Given the description of an element on the screen output the (x, y) to click on. 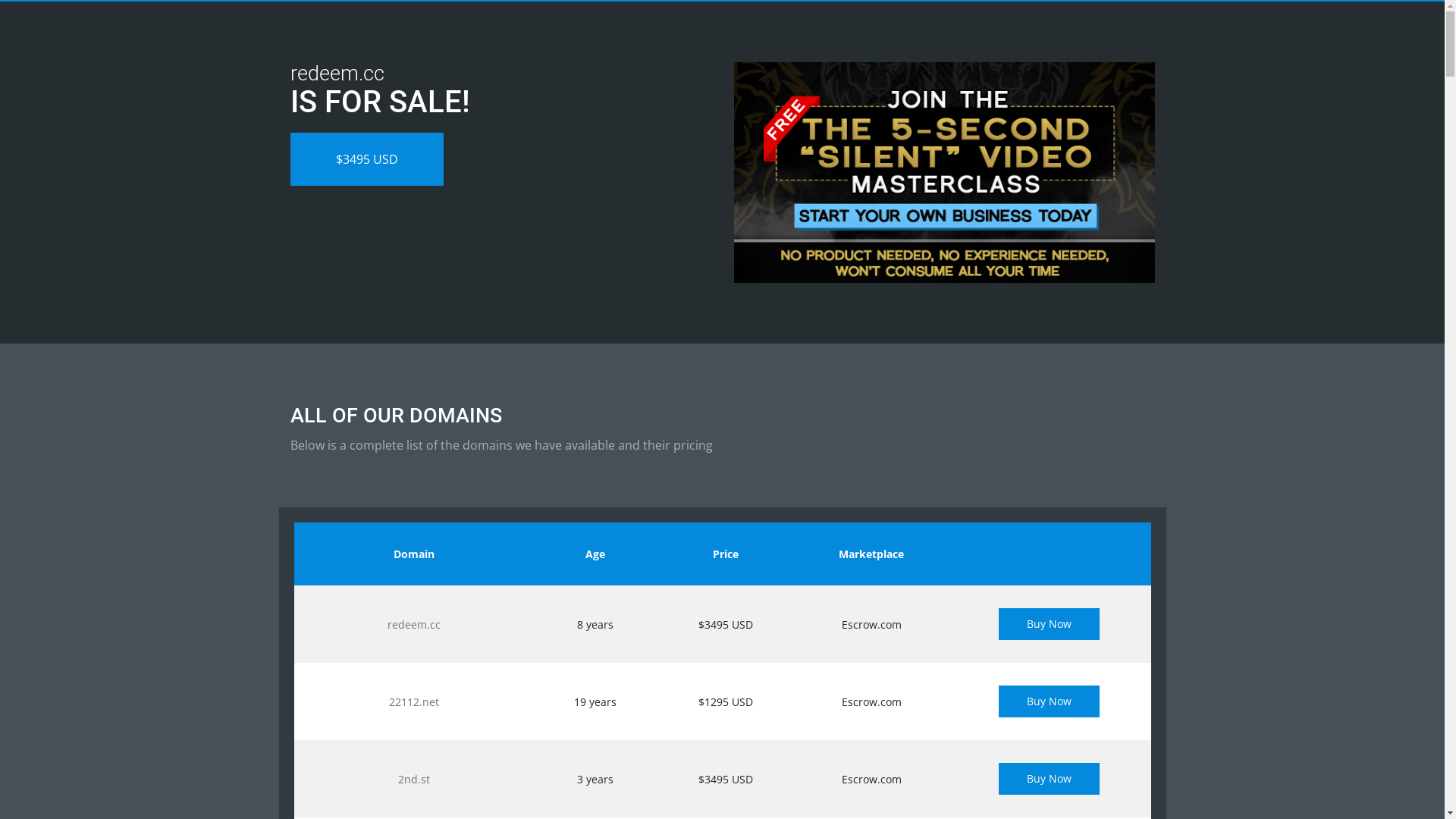
Buy Now Element type: text (1048, 778)
Buy Now Element type: text (1048, 624)
22112.net Element type: text (414, 701)
redeem.cc Element type: text (413, 624)
Buy Now Element type: text (1048, 701)
Freedom Accelerator Element type: hover (944, 172)
$3495 USD Element type: text (365, 158)
2nd.st Element type: text (413, 778)
